Given the description of an element on the screen output the (x, y) to click on. 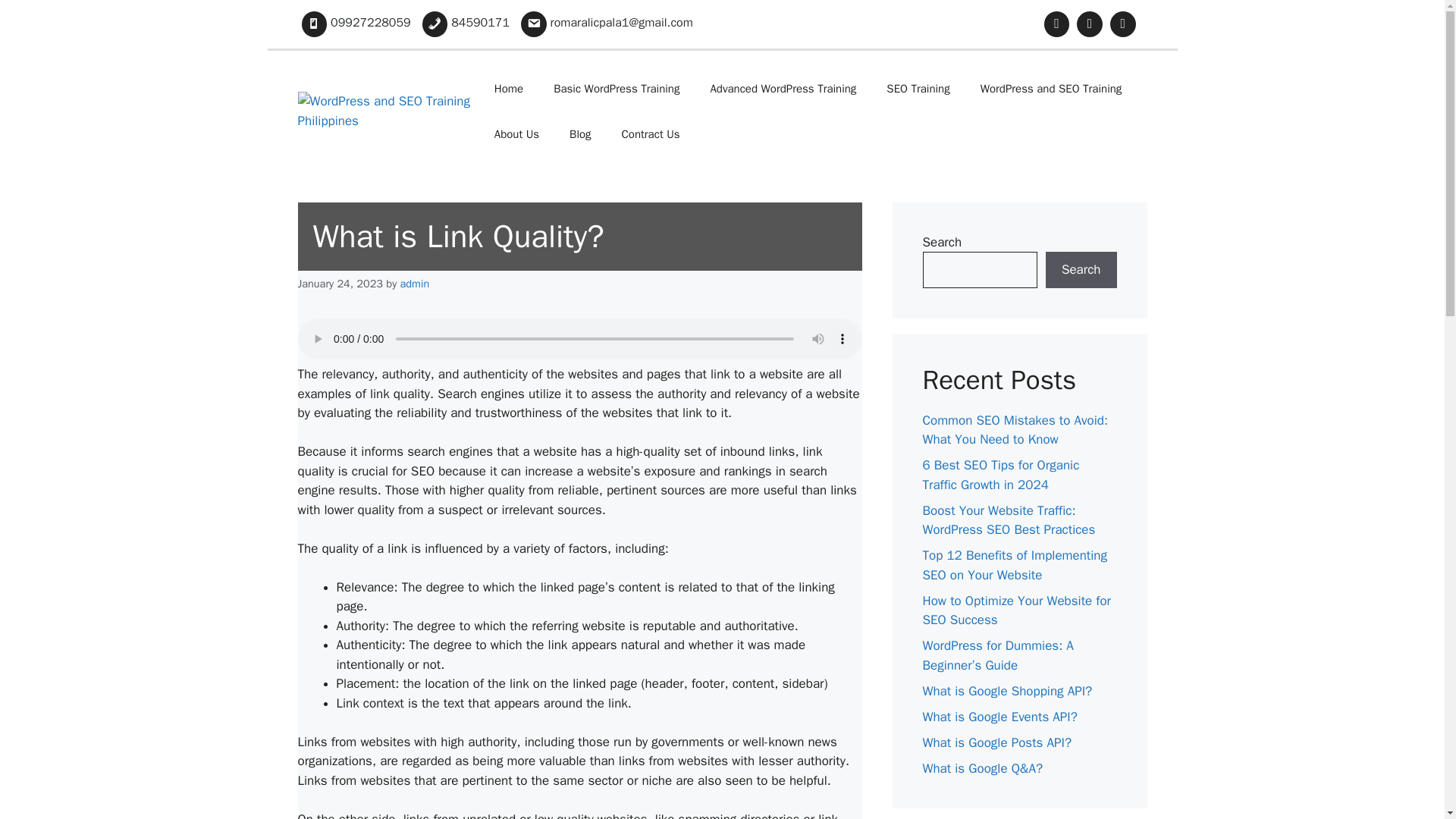
About Us (516, 134)
Blog (579, 134)
Boost Your Website Traffic: WordPress SEO Best Practices (1007, 520)
Search (1080, 269)
Advanced WordPress Training (782, 88)
Twitter (1123, 23)
How to Optimize Your Website for SEO Success (1015, 610)
Basic WordPress Training (616, 88)
View all posts by admin (414, 283)
Google (1089, 23)
